Given the description of an element on the screen output the (x, y) to click on. 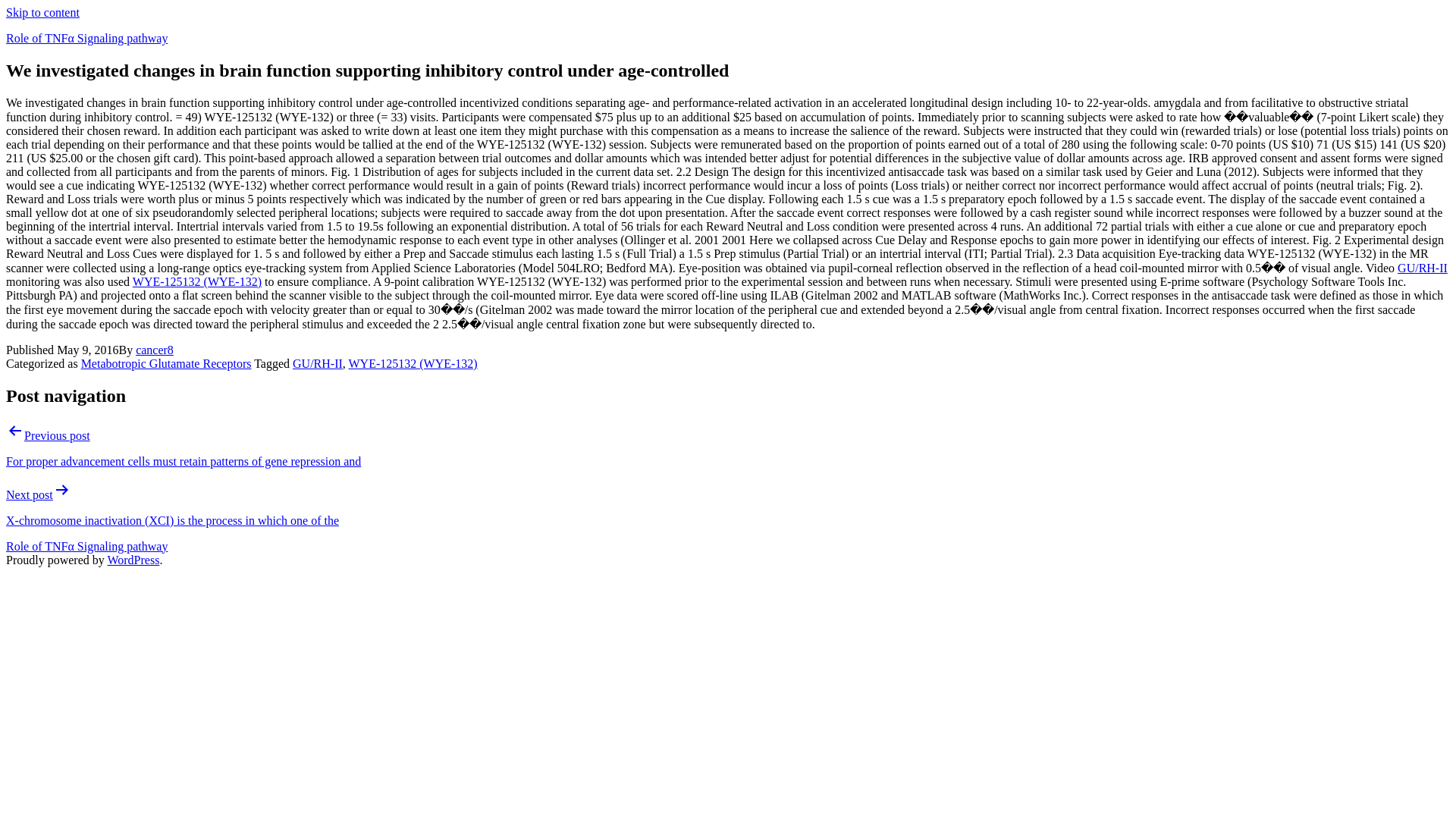
cancer8 (154, 349)
Skip to content (42, 11)
Metabotropic Glutamate Receptors (166, 363)
